Given the description of an element on the screen output the (x, y) to click on. 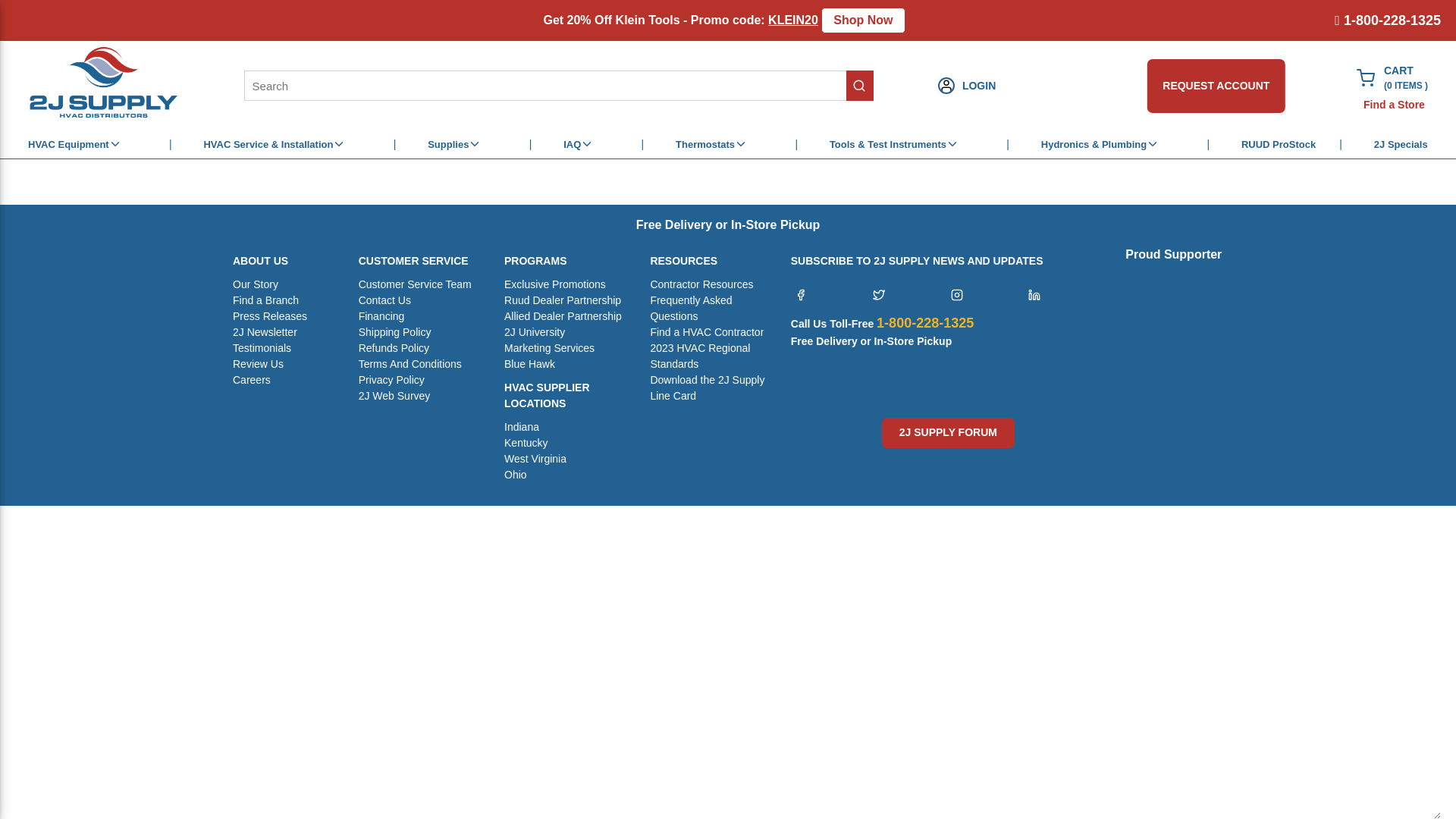
Shipping Policy Element type: text (394, 332)
Find a Store Element type: text (1382, 104)
LOGIN Element type: text (1112, 85)
Tools & Test Instruments Element type: text (894, 144)
RUUD ProStock Element type: text (1278, 144)
Contractor Resources Element type: text (701, 284)
2J Newsletter Element type: text (264, 332)
Careers Element type: text (251, 380)
Contact Us Element type: text (384, 300)
Twitter Element type: hover (878, 294)
REQUEST ACCOUNT Element type: text (1205, 85)
Financing Element type: text (381, 316)
Find a HVAC Contractor Element type: text (706, 332)
Linkedin Element type: hover (1034, 294)
Frequently Asked Questions Element type: text (708, 308)
Blue Hawk Element type: text (529, 364)
West Virginia Element type: text (535, 459)
Kentucky Element type: text (526, 443)
2J Web Survey Element type: text (394, 396)
Supplies Element type: text (454, 144)
submit search Element type: text (852, 85)
Review Us Element type: text (257, 364)
Press Releases Element type: text (269, 316)
Facebook Element type: hover (800, 294)
2J SUPPLY FORUM Element type: text (947, 432)
Refunds Policy Element type: text (393, 348)
Testimonials Element type: text (261, 348)
Customer Service Team Element type: text (414, 284)
SKIP TO MAIN CONTENT Element type: text (85, 20)
2023 HVAC Regional Standards Element type: text (708, 356)
Ohio Element type: text (515, 475)
Marketing Services Element type: text (549, 348)
Our Story Element type: text (255, 284)
2J University Element type: text (534, 332)
Privacy Policy Element type: text (391, 380)
HVAC Equipment Element type: text (75, 144)
Indiana Element type: text (521, 427)
Thermostats Element type: text (711, 144)
Exclusive Promotions Element type: text (554, 284)
HVAC Service & Installation Element type: text (274, 144)
Find a Branch Element type: text (265, 300)
Terms And Conditions Element type: text (409, 364)
Shop Now Element type: text (857, 20)
Ruud Dealer Partnership Element type: text (562, 300)
Allied Dealer Partnership Element type: text (562, 316)
IAQ Element type: text (578, 144)
Instagram Element type: hover (956, 294)
Shop Now Element type: text (857, 20)
Download the 2J Supply Line Card Element type: text (708, 388)
